Given the description of an element on the screen output the (x, y) to click on. 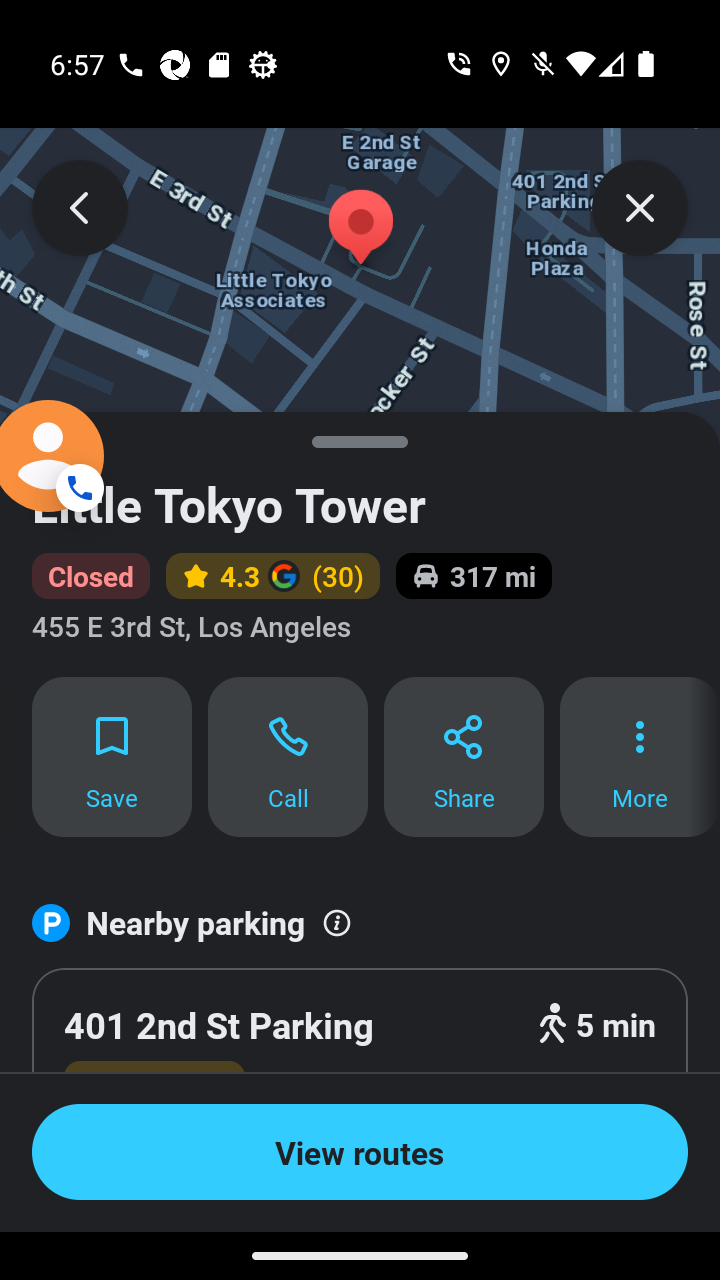
Save (111, 757)
Call (287, 757)
Share (463, 757)
More (640, 757)
401 2nd St Parking 5 min Opens soon (359, 1056)
View routes (359, 1151)
